Given the description of an element on the screen output the (x, y) to click on. 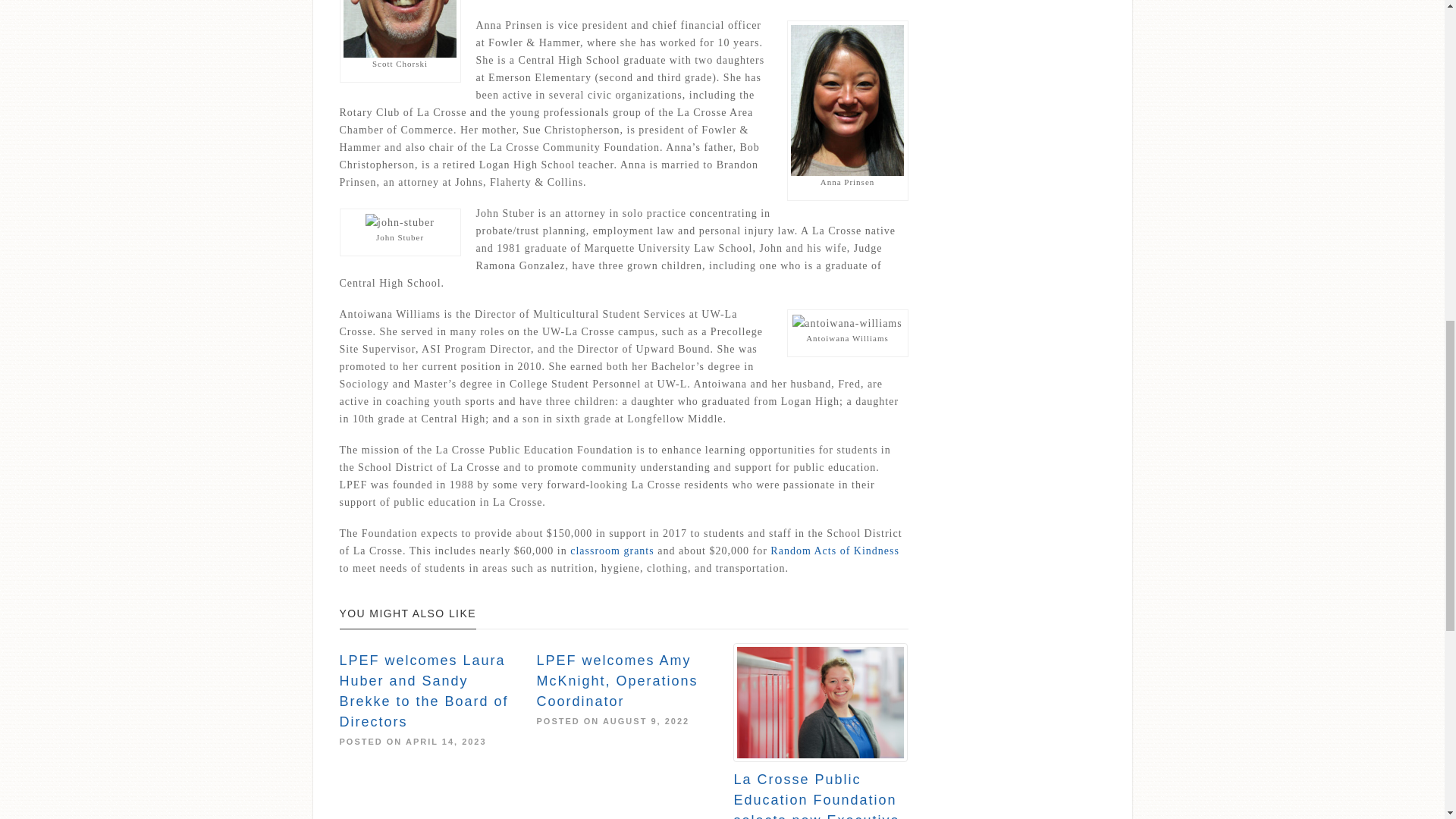
Random Acts of Kindness (834, 550)
Awarded Grants (611, 550)
